Given the description of an element on the screen output the (x, y) to click on. 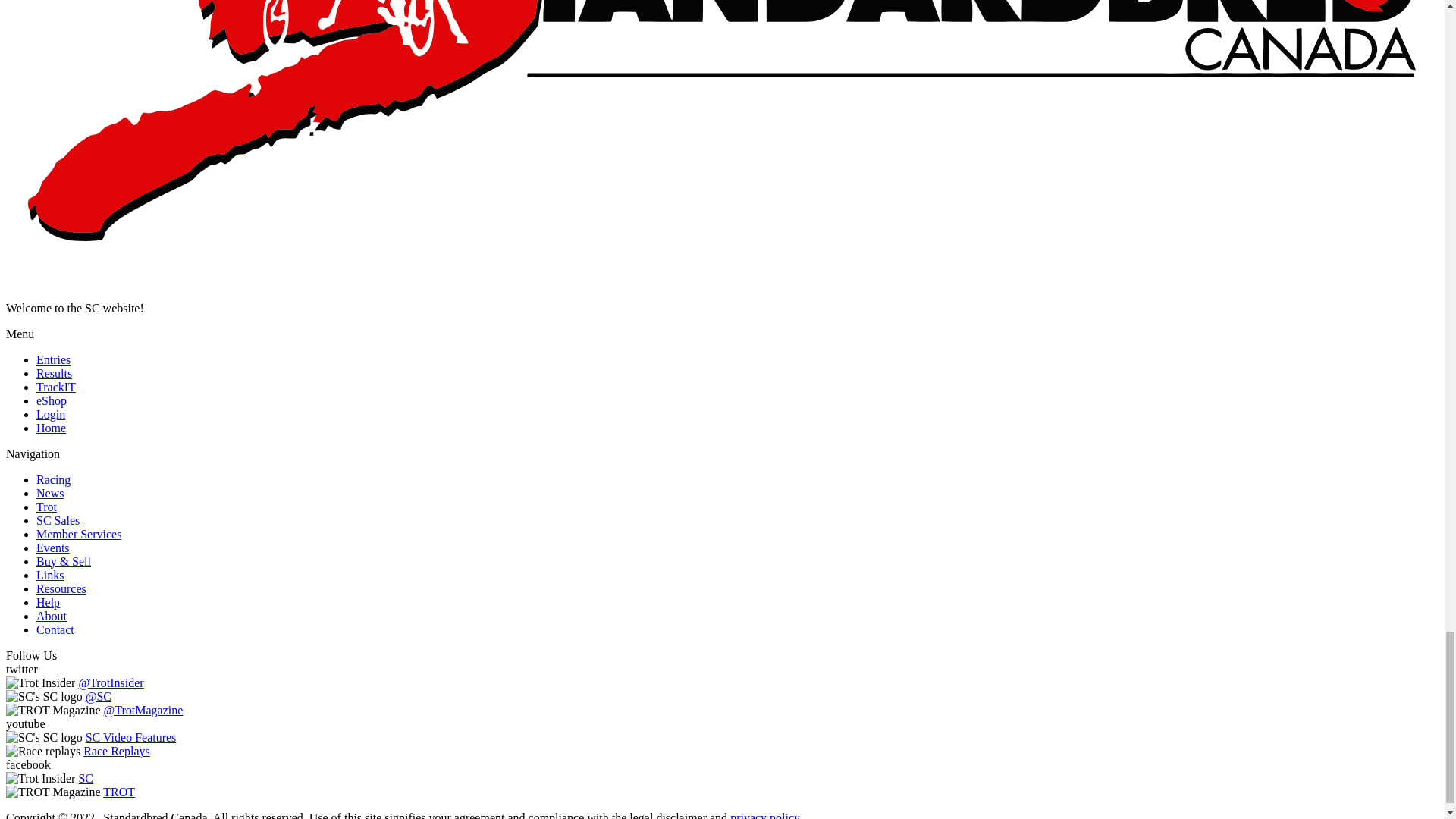
Homepage (50, 427)
